Given the description of an element on the screen output the (x, y) to click on. 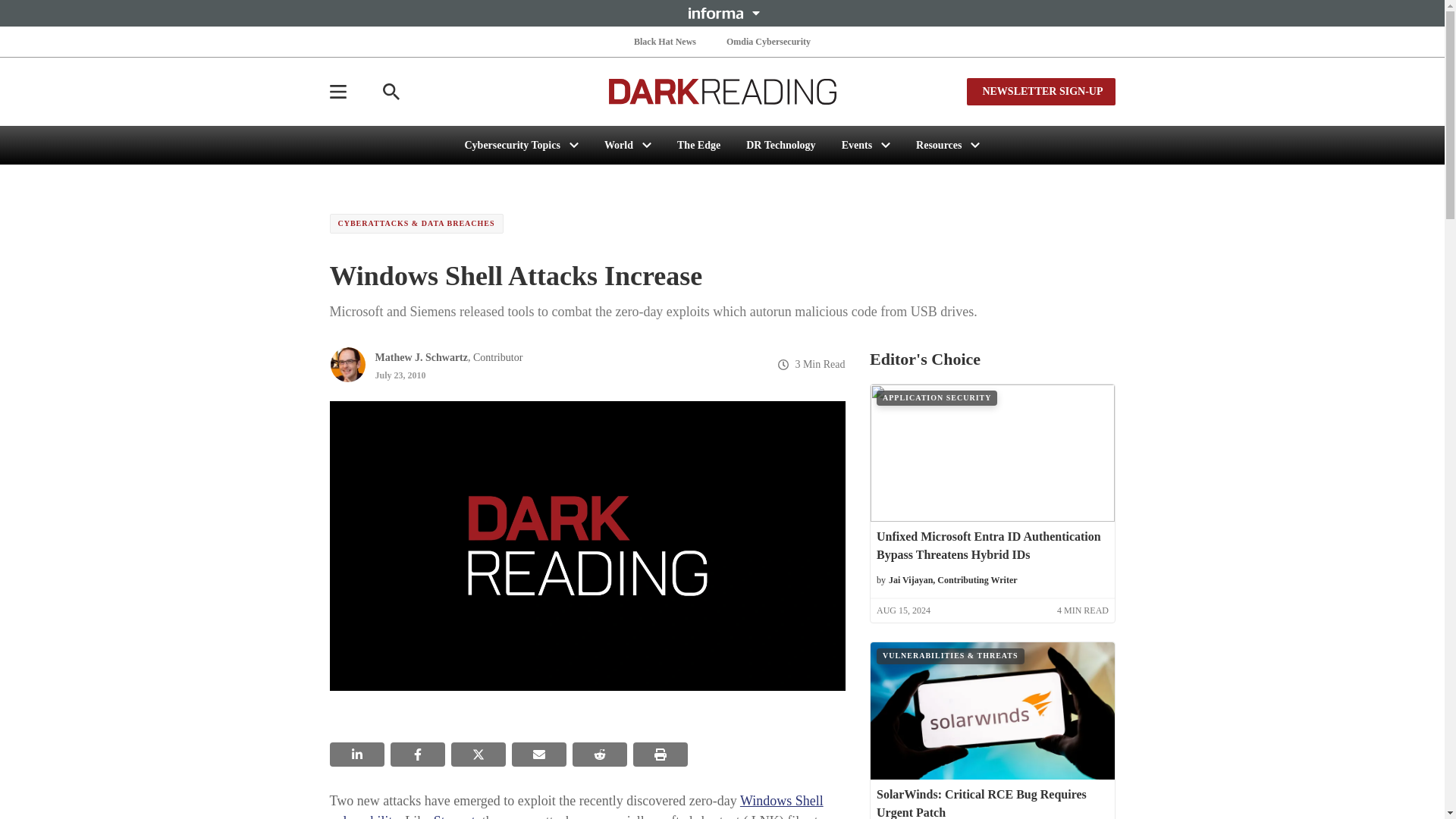
Omdia Cybersecurity (768, 41)
Dark Reading Logo (721, 91)
Picture of Mathew J. Schwartz (347, 364)
NEWSLETTER SIGN-UP (1040, 90)
Black Hat News (664, 41)
